Given the description of an element on the screen output the (x, y) to click on. 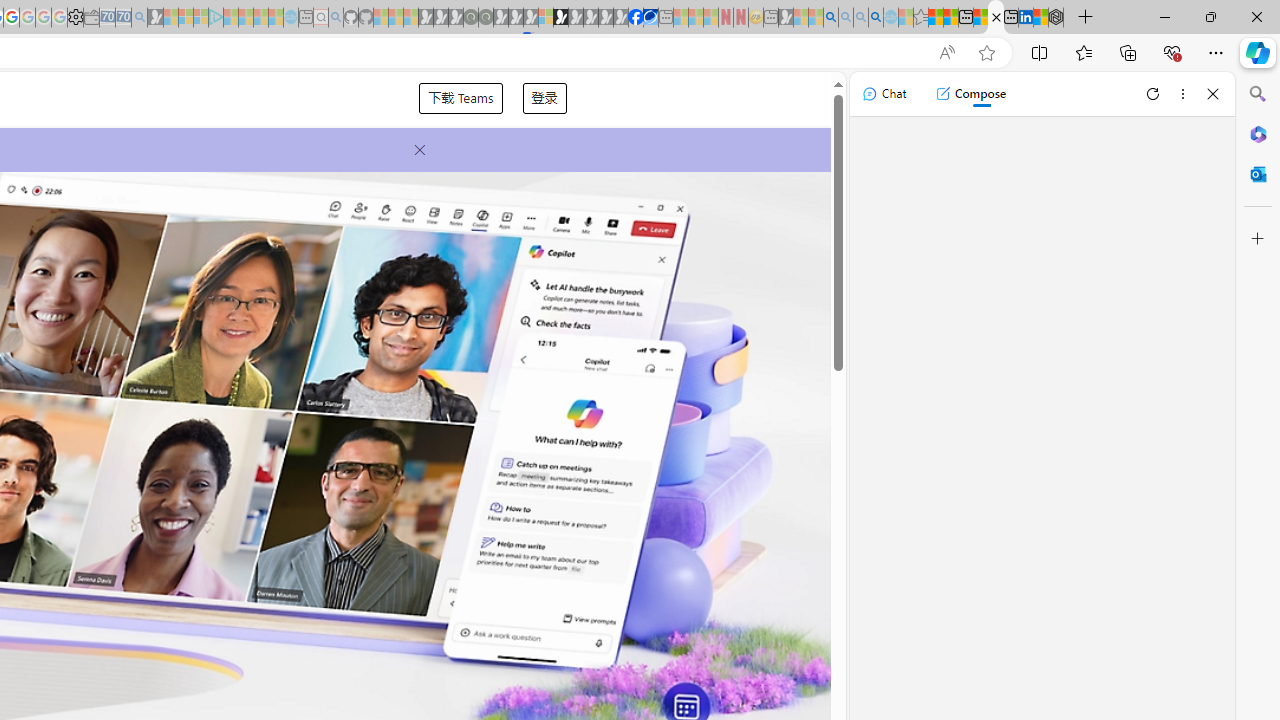
Microsoft Start Gaming - Sleeping (155, 17)
Google Chrome Internet Browser Download - Search Images (876, 17)
